Given the description of an element on the screen output the (x, y) to click on. 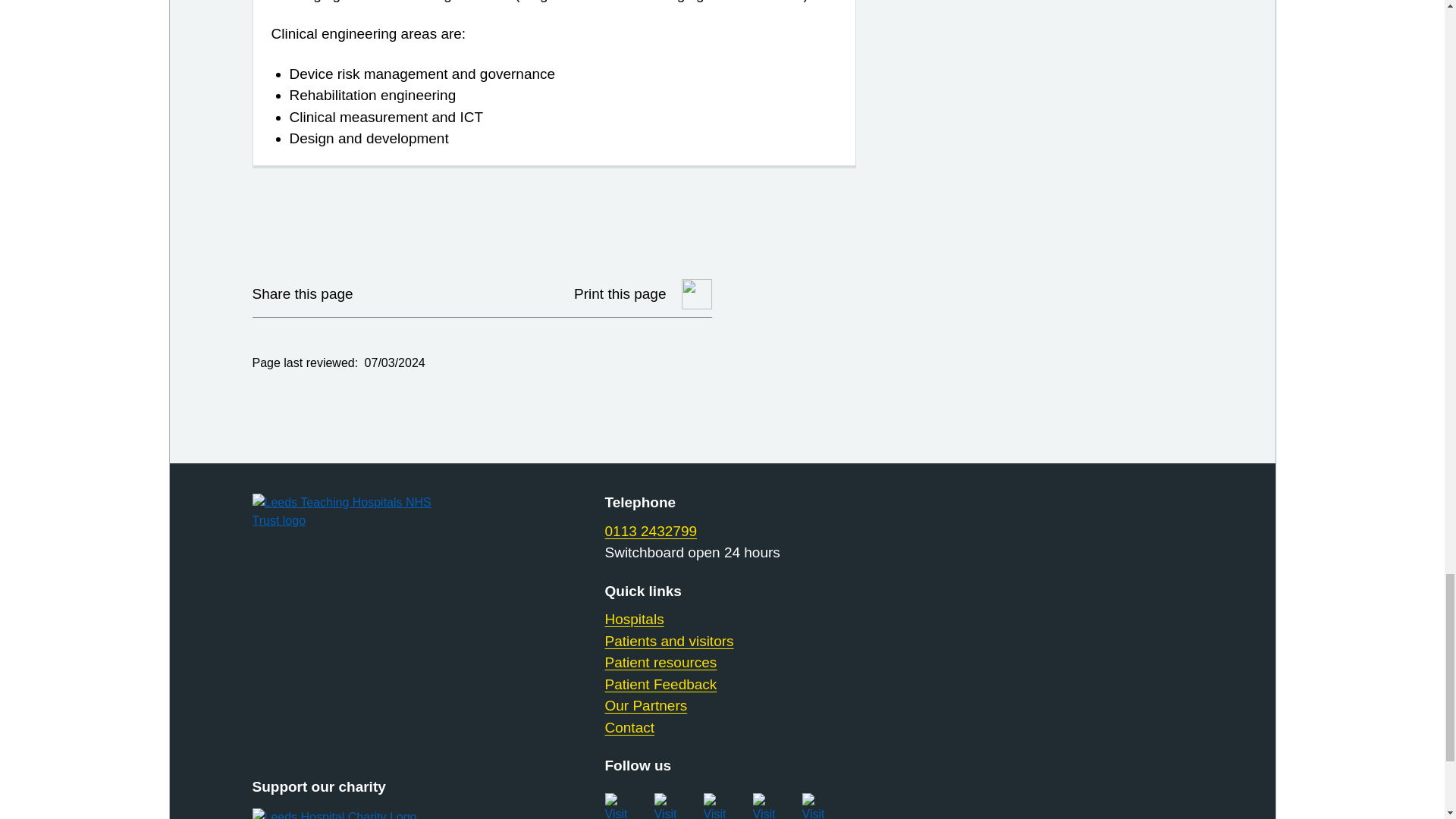
Share via Email (460, 294)
Leeds Teaching Hospitals NHS Trust Homepage (359, 511)
Share on Facebook (422, 294)
Leeds Hospital Charity (359, 813)
